Given the description of an element on the screen output the (x, y) to click on. 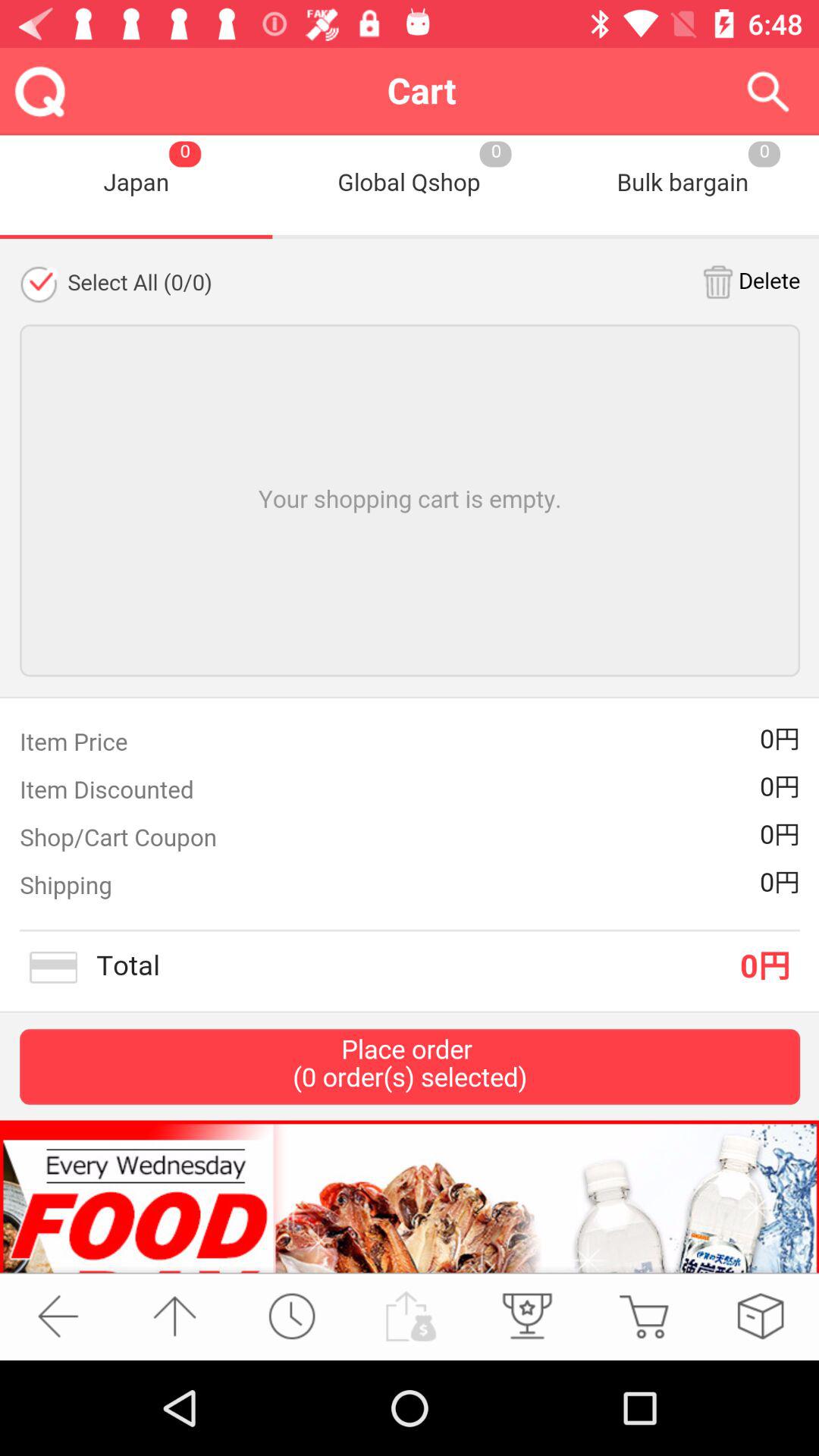
return to top (174, 1316)
